Given the description of an element on the screen output the (x, y) to click on. 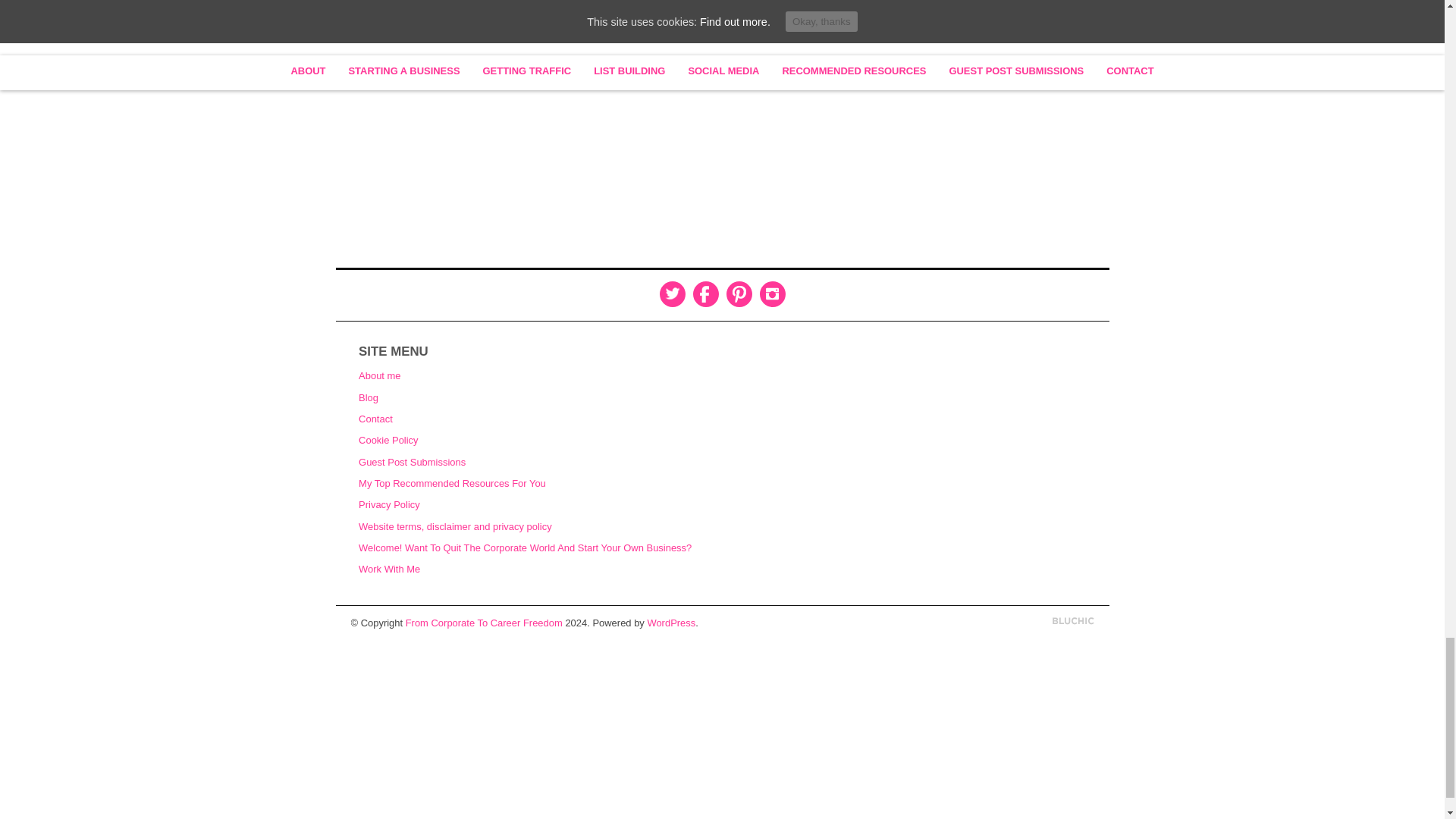
Theme designed by BluChic (1073, 621)
